Given the description of an element on the screen output the (x, y) to click on. 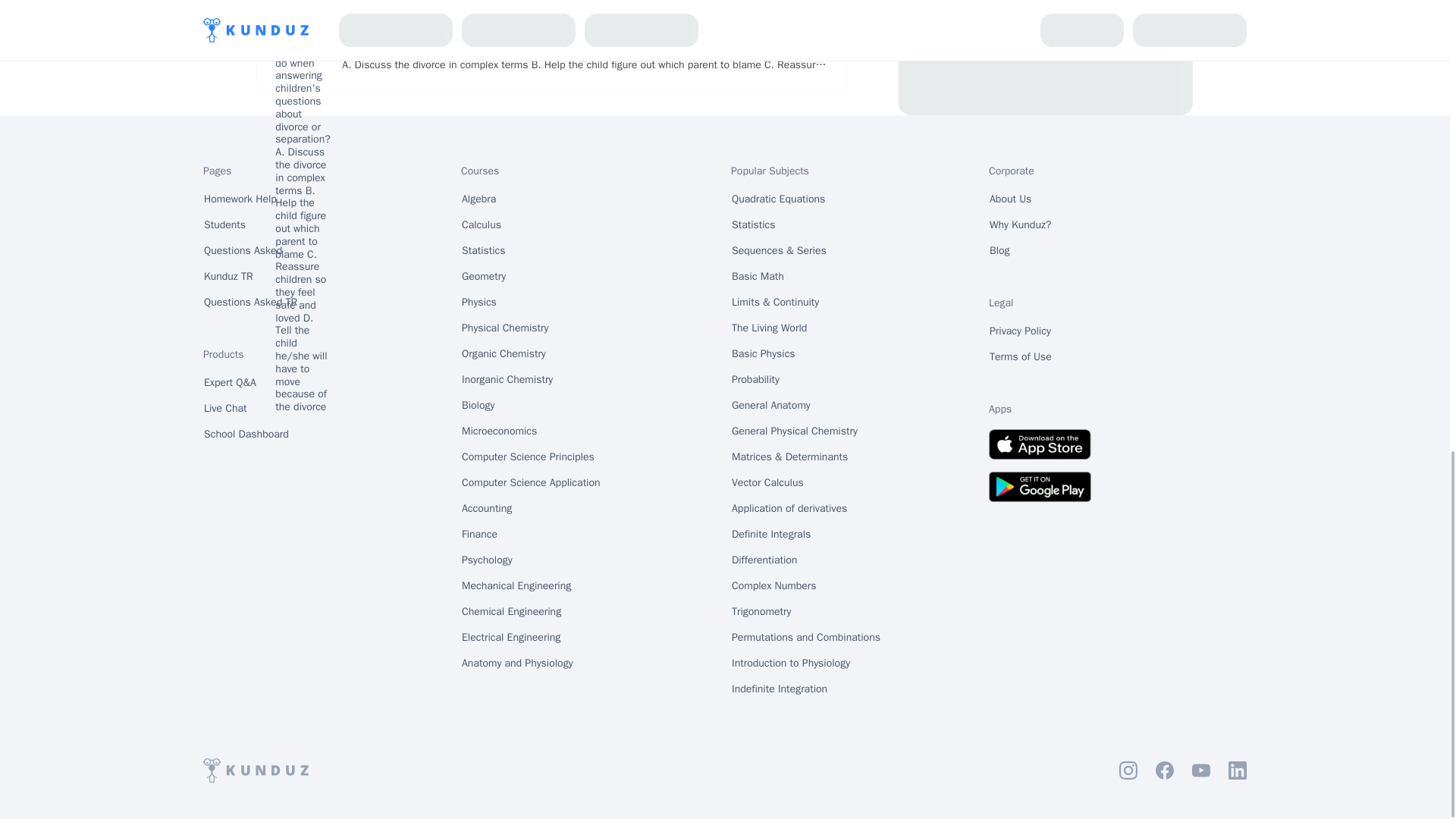
Electrical Engineering (510, 637)
Biology (478, 405)
Organic Chemistry (504, 353)
Psychology (487, 560)
Quadratic Equations (777, 199)
School Dashboard (246, 434)
Inorganic Chemistry (507, 379)
Physics (479, 302)
Microeconomics (499, 431)
Questions Asked TR (250, 302)
Physical Chemistry (504, 328)
Calculus (481, 225)
Accounting (486, 508)
Kunduz TR (228, 276)
Geometry (483, 276)
